Given the description of an element on the screen output the (x, y) to click on. 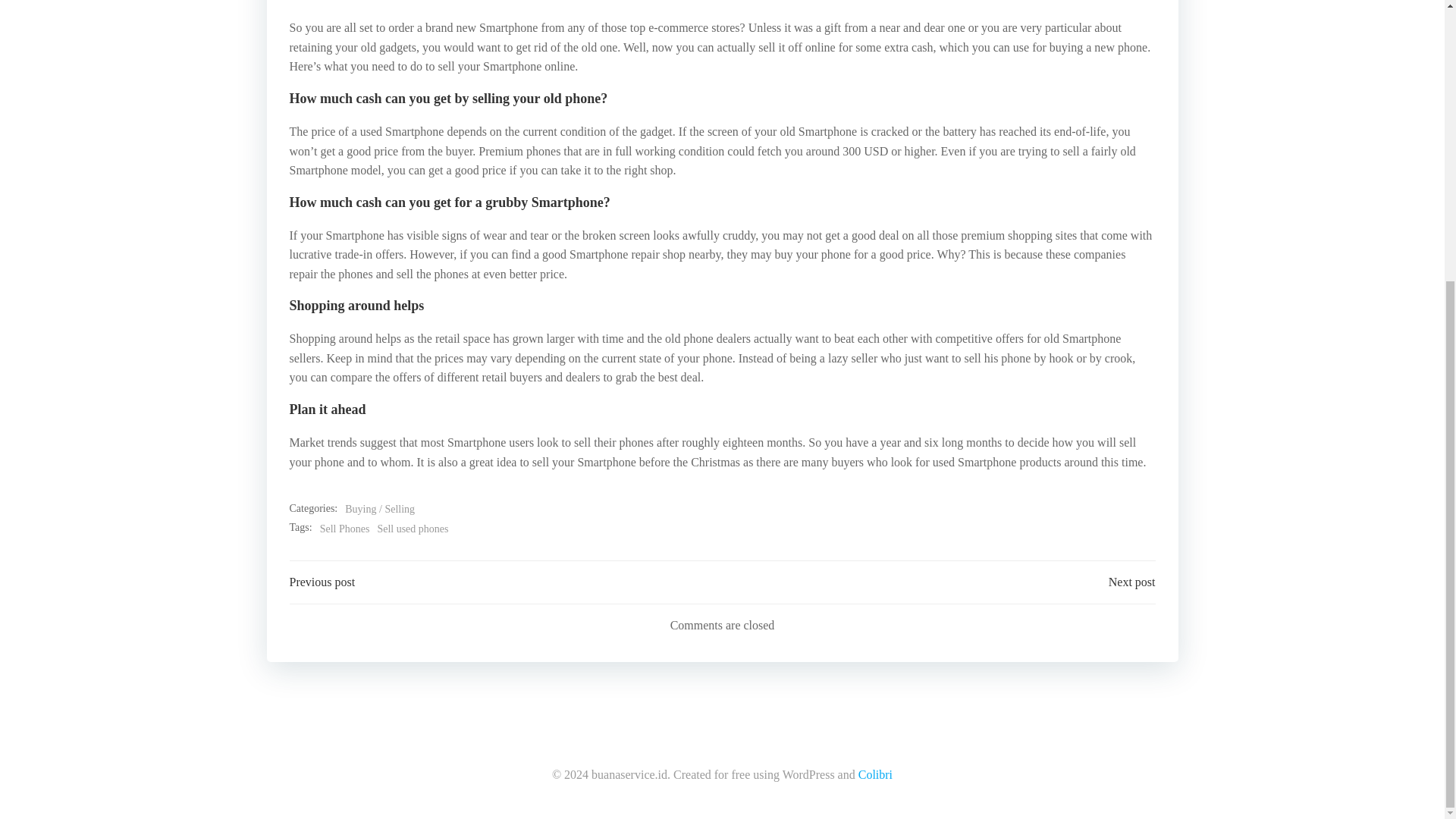
Sell used phones Tag (412, 528)
Sell Phones Tag (344, 528)
